Given the description of an element on the screen output the (x, y) to click on. 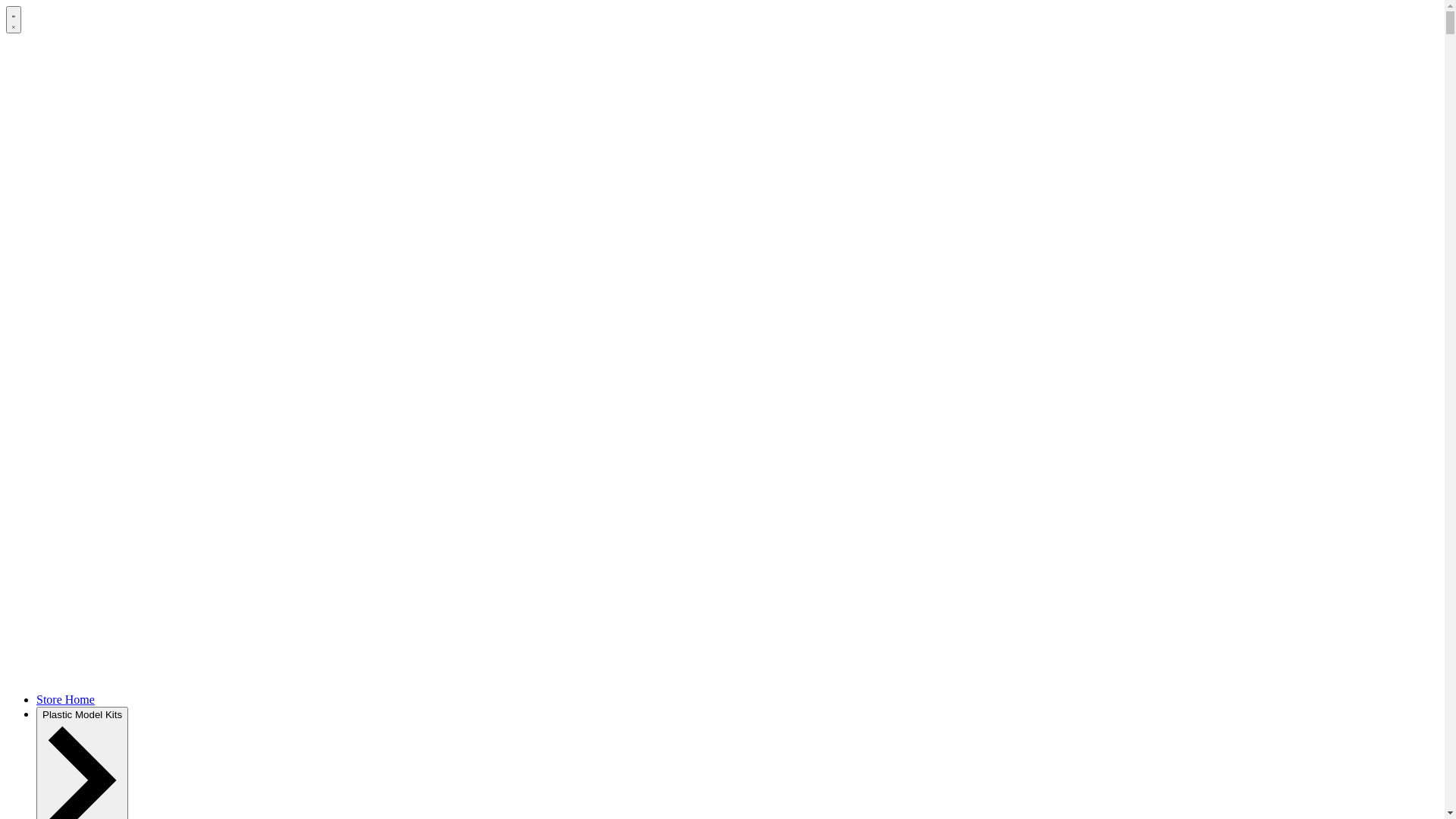
Store Home Element type: text (65, 699)
